Given the description of an element on the screen output the (x, y) to click on. 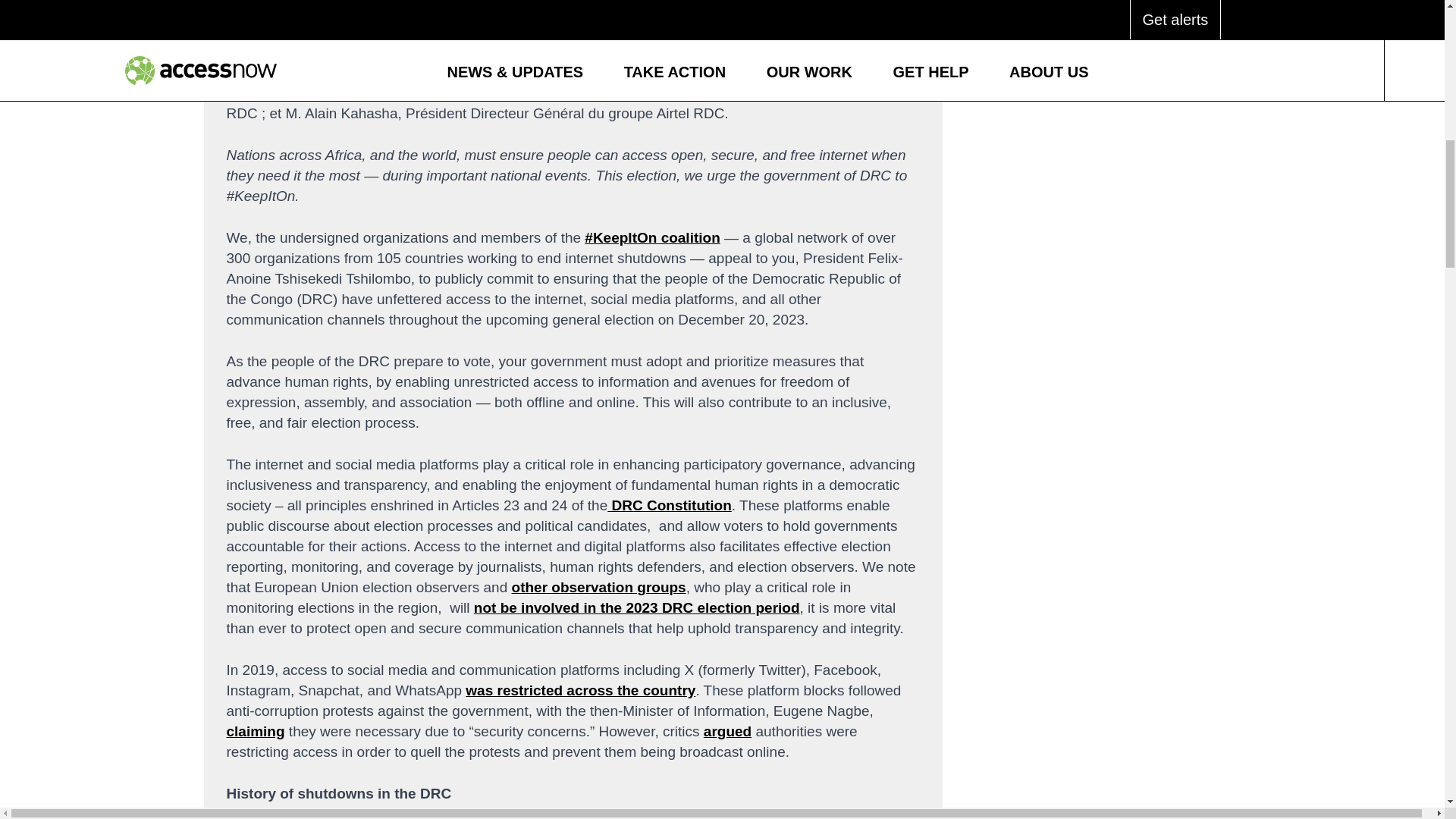
WhatsApp (1049, 38)
Facebook (1150, 7)
LinkedIn (1150, 38)
Twitter (1049, 7)
